Given the description of an element on the screen output the (x, y) to click on. 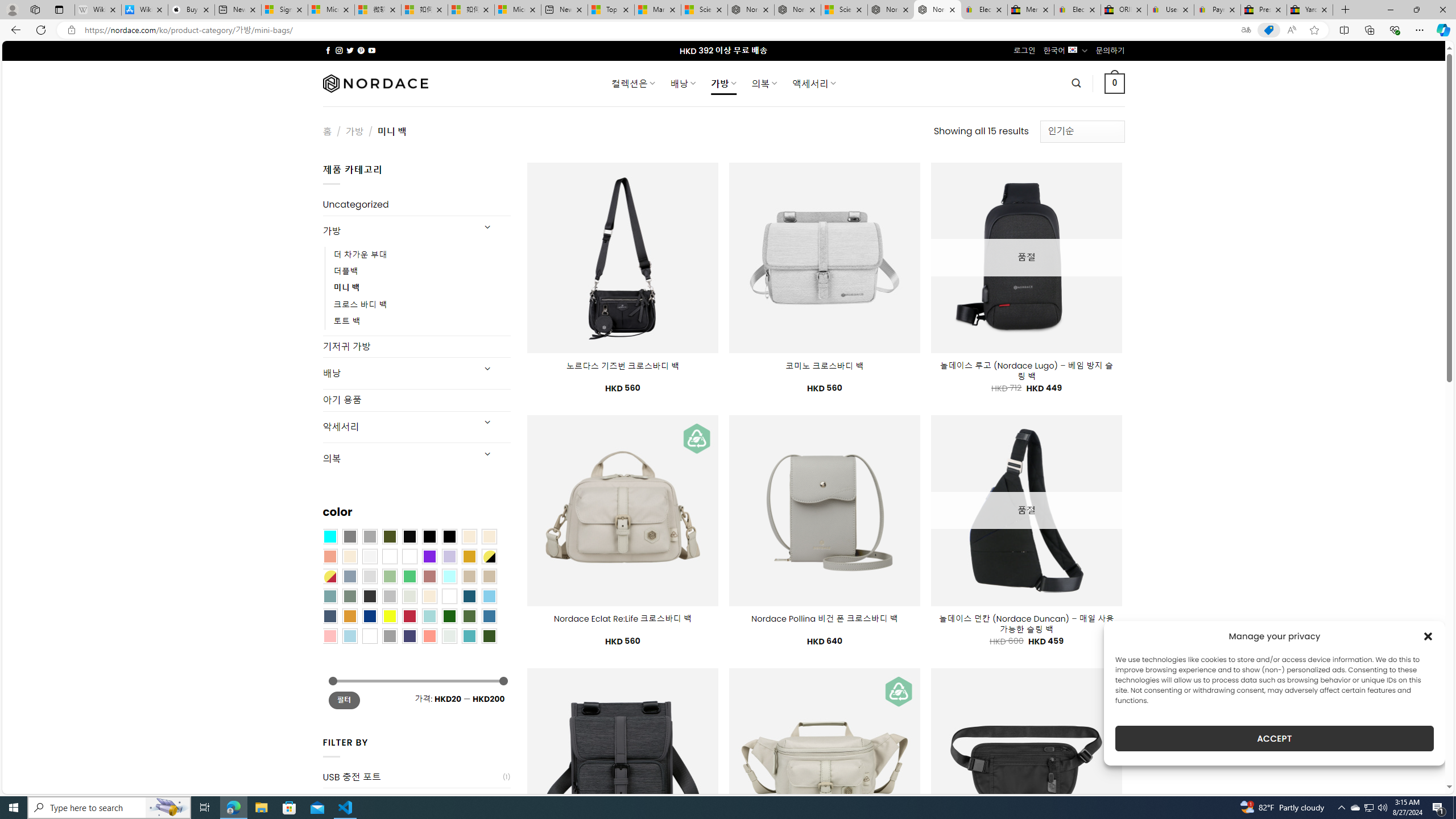
Purple (429, 555)
Sign in to your Microsoft account (284, 9)
Marine life - MSN (656, 9)
Uncategorized (416, 204)
